Given the description of an element on the screen output the (x, y) to click on. 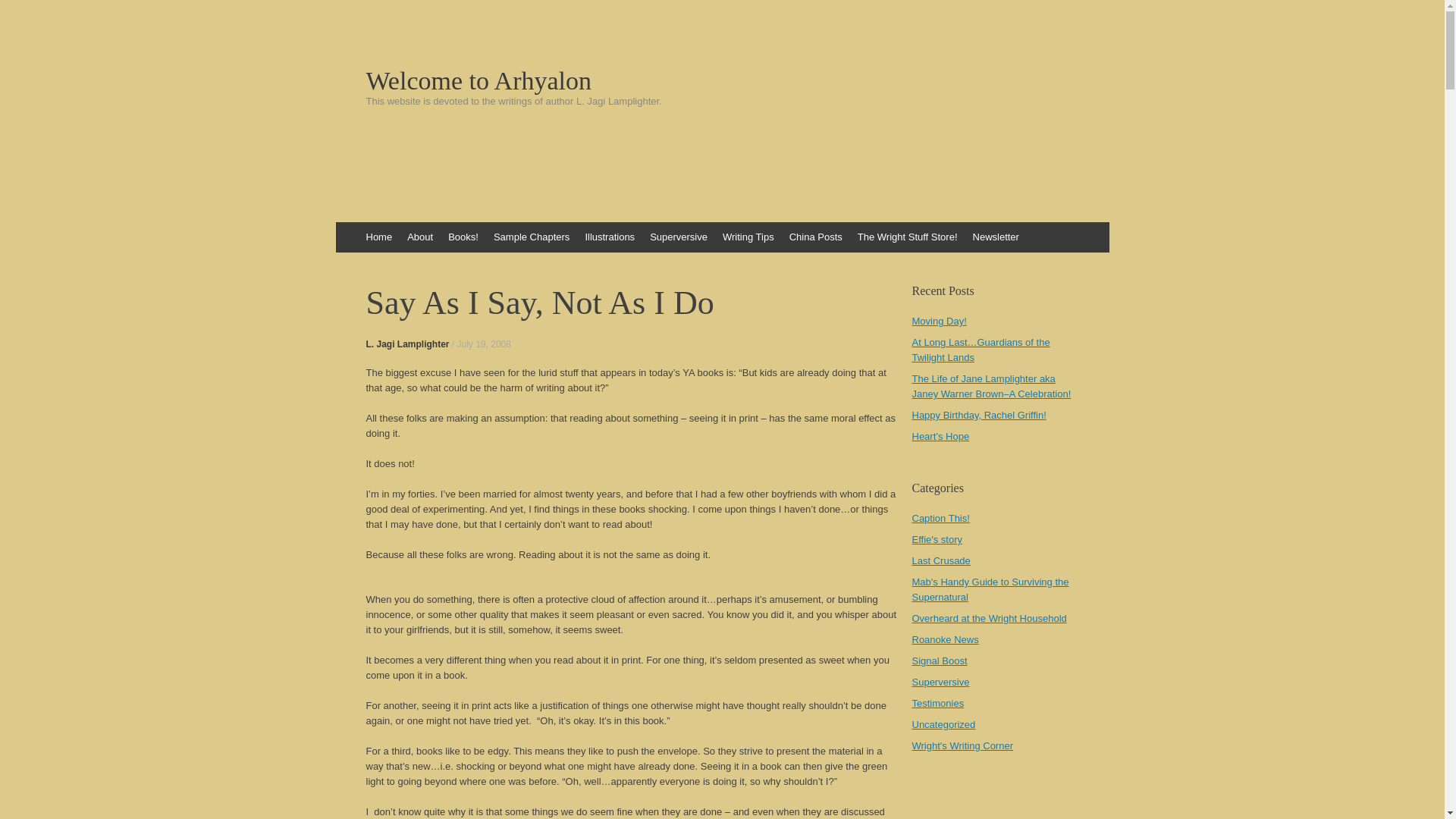
Superversive (678, 236)
Newsletter (995, 236)
China Posts (815, 236)
The Wright Stuff Store! (907, 236)
About (419, 236)
Home (378, 236)
Books! (463, 236)
Welcome to Arhyalon (721, 80)
Sample Chapters (531, 236)
Welcome to Arhyalon (721, 80)
